Given the description of an element on the screen output the (x, y) to click on. 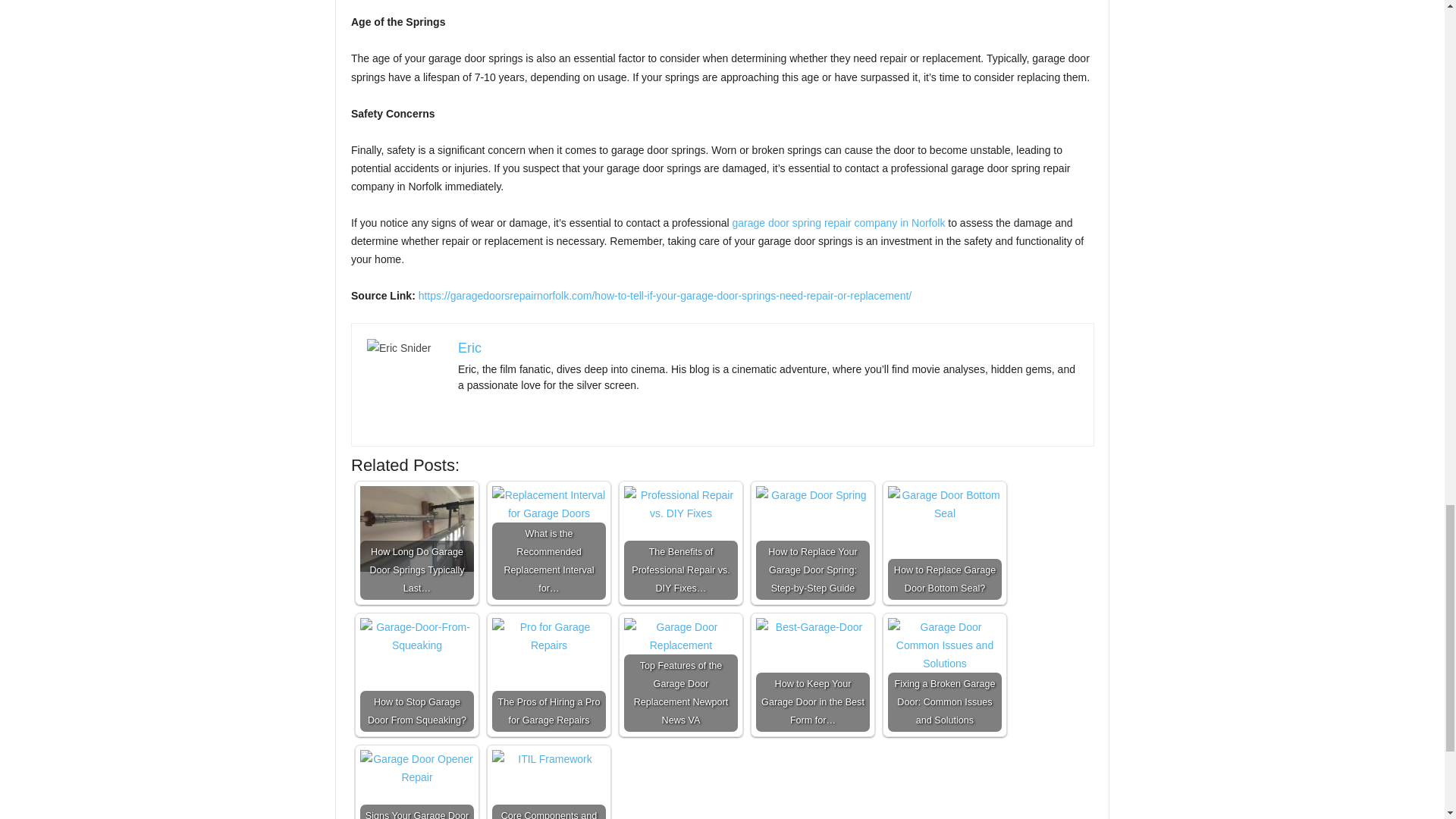
Eric (469, 347)
How to Replace Garage Door Bottom Seal? (944, 542)
How to Stop Garage Door From Squeaking? (416, 675)
The Pros of Hiring a Pro for Garage Repairs (548, 675)
How to Replace Your Garage Door Spring: Step-by-Step Guide (812, 542)
How to Replace Your Garage Door Spring: Step-by-Step Guide (812, 542)
